Given the description of an element on the screen output the (x, y) to click on. 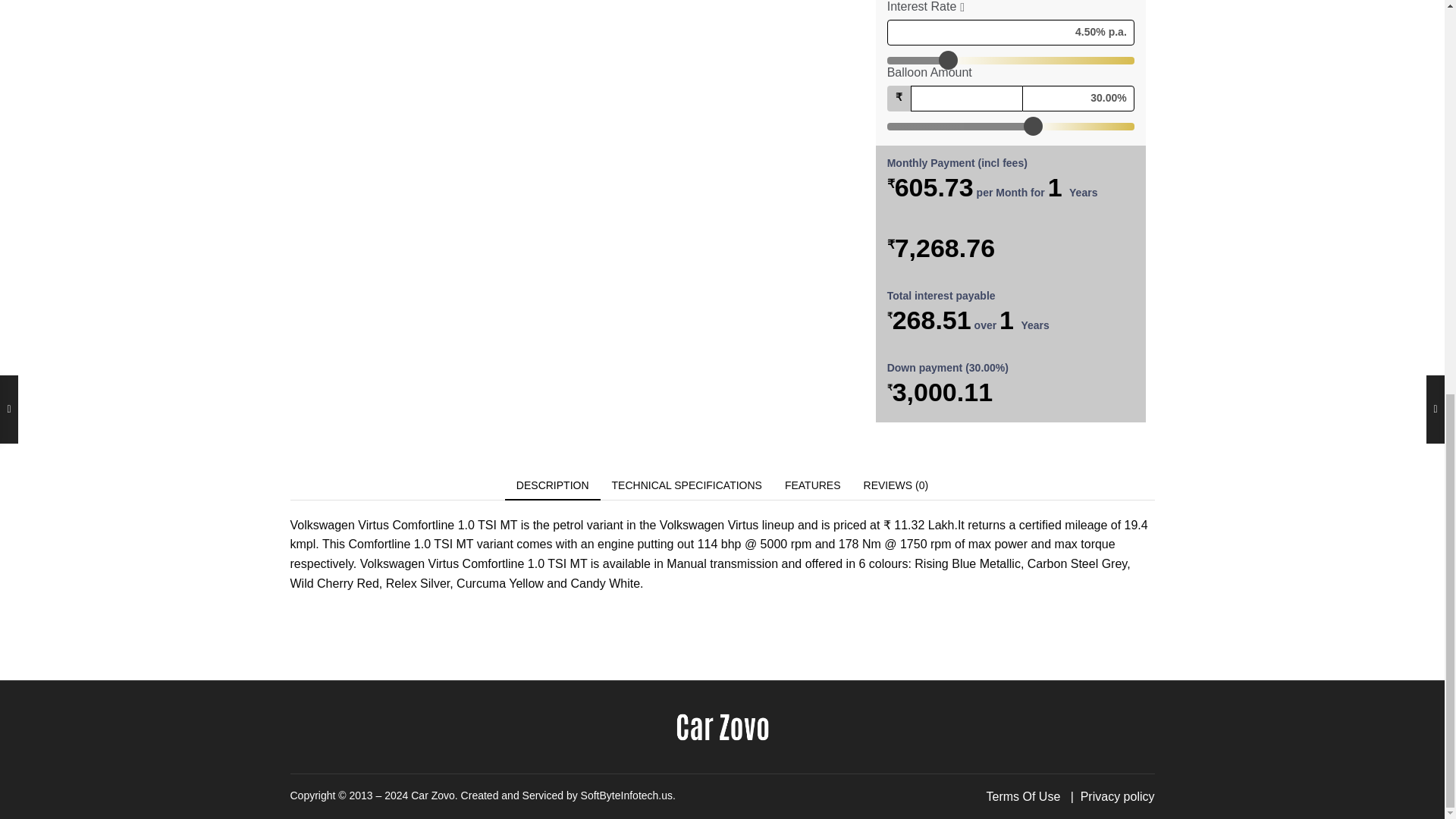
30 (1010, 126)
4.5 (1010, 60)
